Given the description of an element on the screen output the (x, y) to click on. 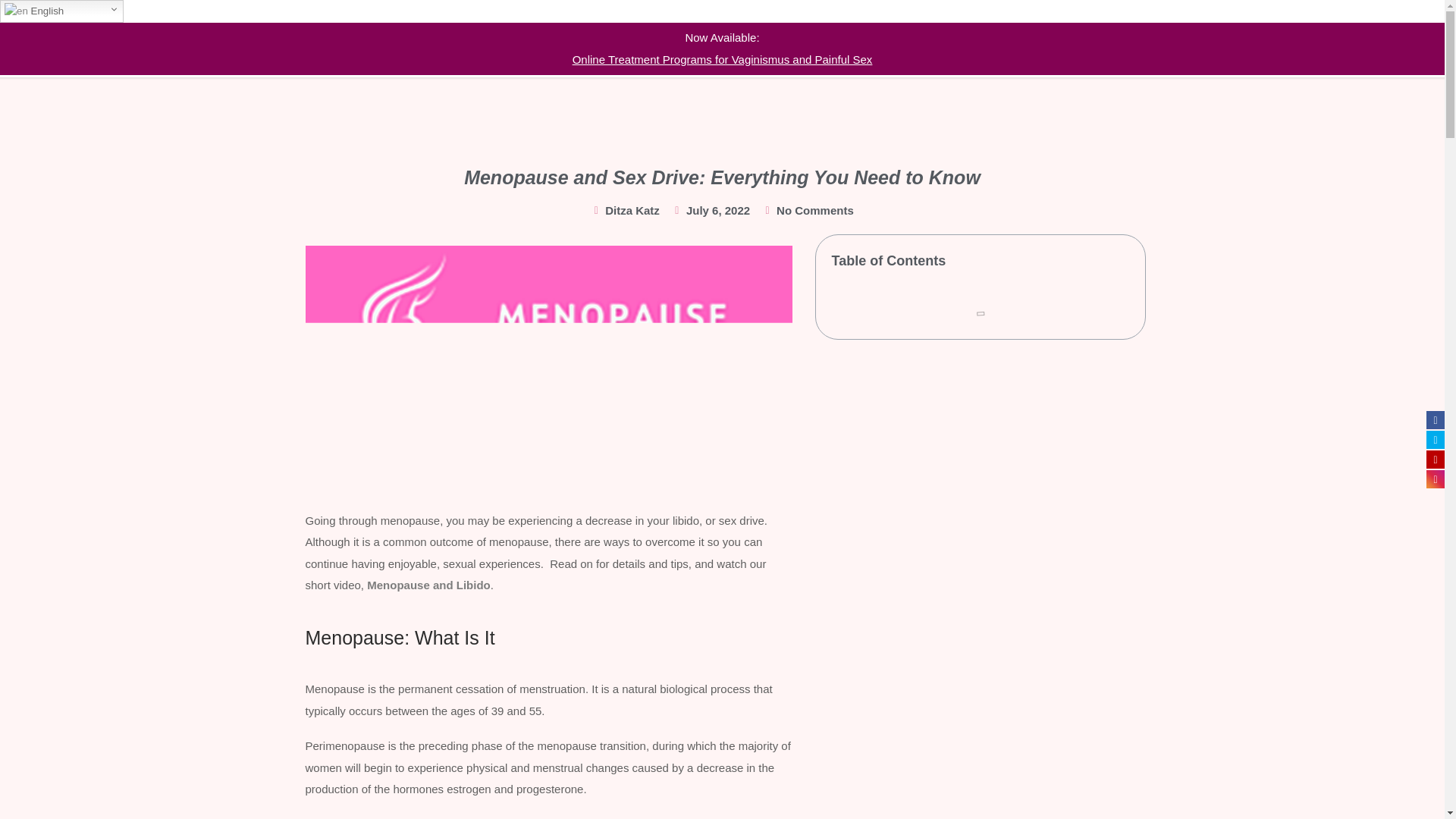
Sexual Health (780, 38)
Home (617, 38)
Vaginismus (689, 38)
Online Treatment Programs for Vaginismus and Painful Sex (722, 59)
English (61, 11)
